Given the description of an element on the screen output the (x, y) to click on. 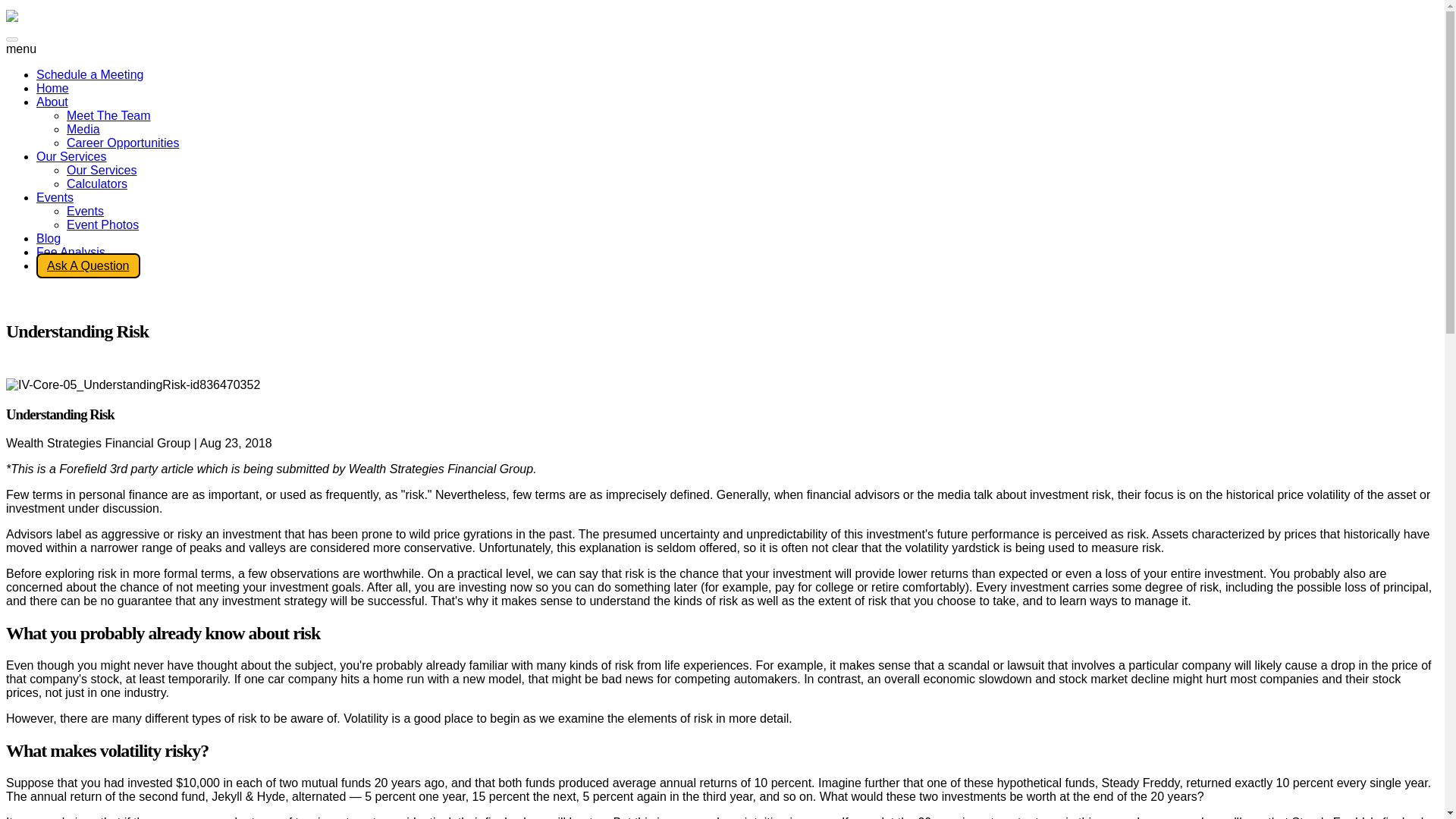
Events (84, 210)
Career Opportunities (122, 142)
Fee Analysis (70, 251)
Our Services (71, 155)
Blog (48, 237)
Schedule a Meeting (89, 74)
Ask A Question (87, 265)
Calculators (97, 183)
Our Services (101, 169)
Home (52, 88)
Media (83, 128)
Event Photos (102, 224)
Events (55, 196)
Meet The Team (108, 115)
